Given the description of an element on the screen output the (x, y) to click on. 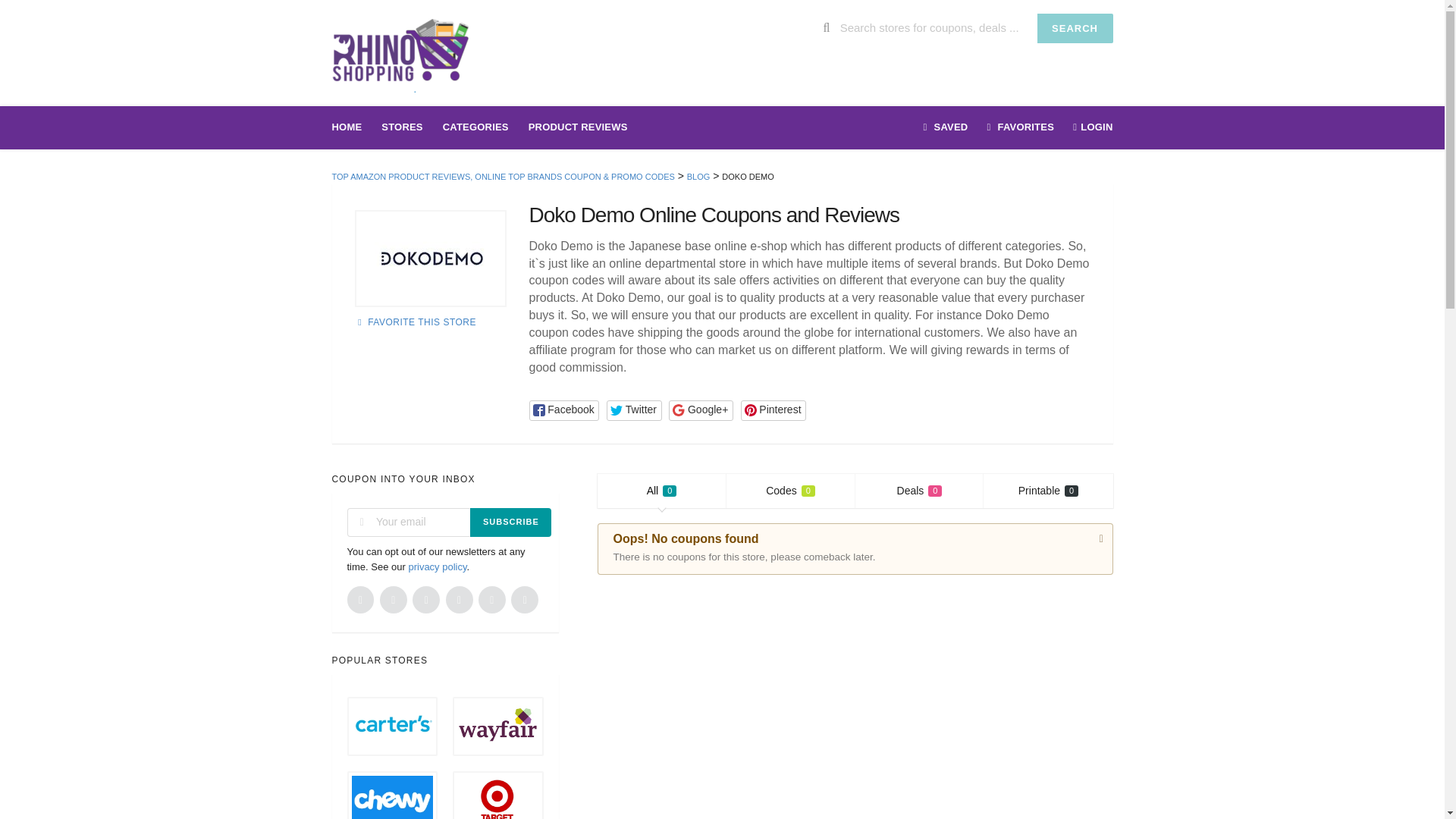
BLOG (661, 490)
CATEGORIES (1048, 490)
HOME (698, 175)
Share link on Twitter (475, 127)
Skip to content (351, 127)
Shop Doko Demo (791, 490)
Share link on Facebook (634, 410)
SEARCH (430, 258)
Share image on Pinterest (564, 410)
PRODUCT REVIEWS (698, 175)
